Given the description of an element on the screen output the (x, y) to click on. 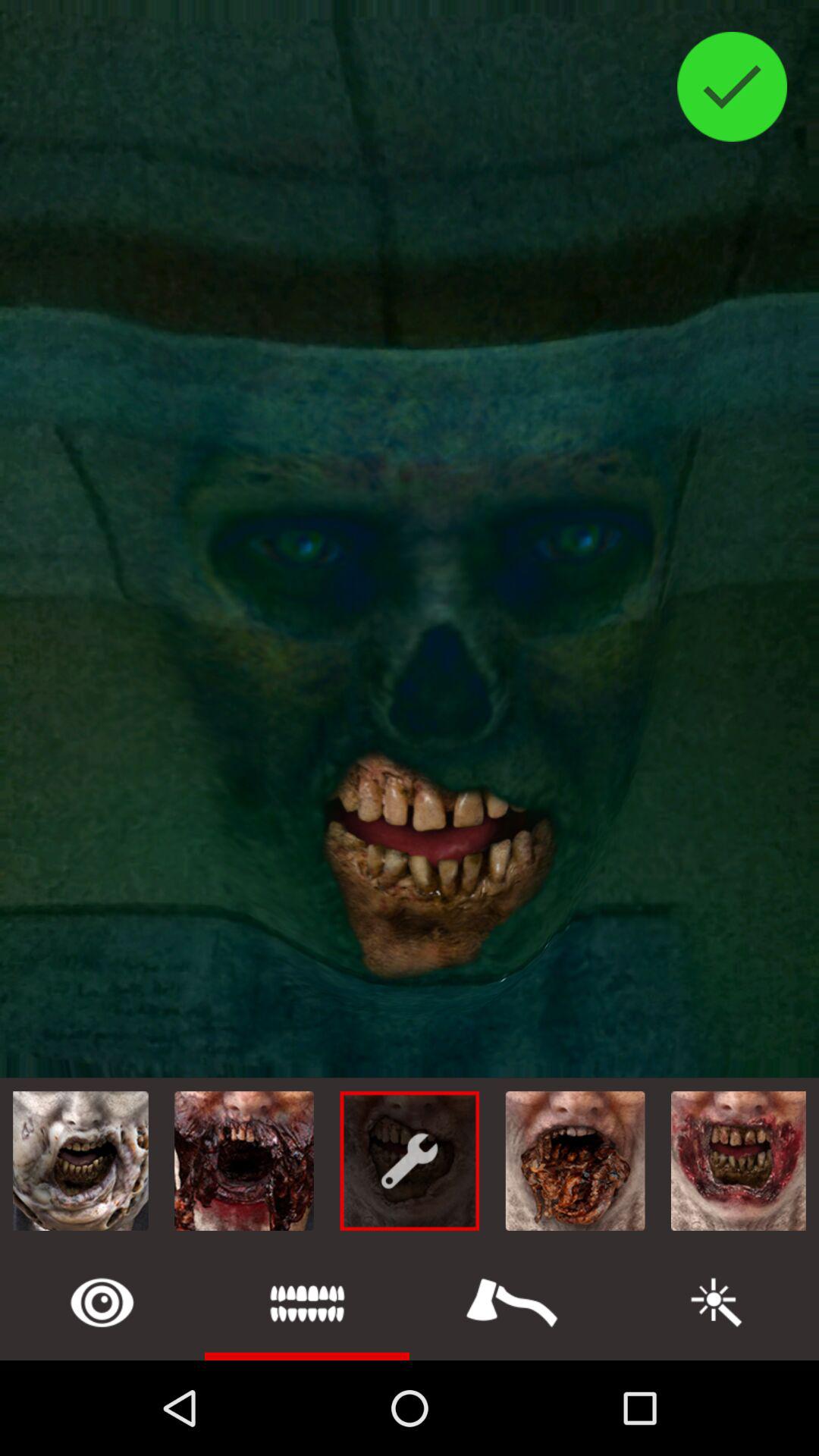
add teeth (306, 1302)
